Given the description of an element on the screen output the (x, y) to click on. 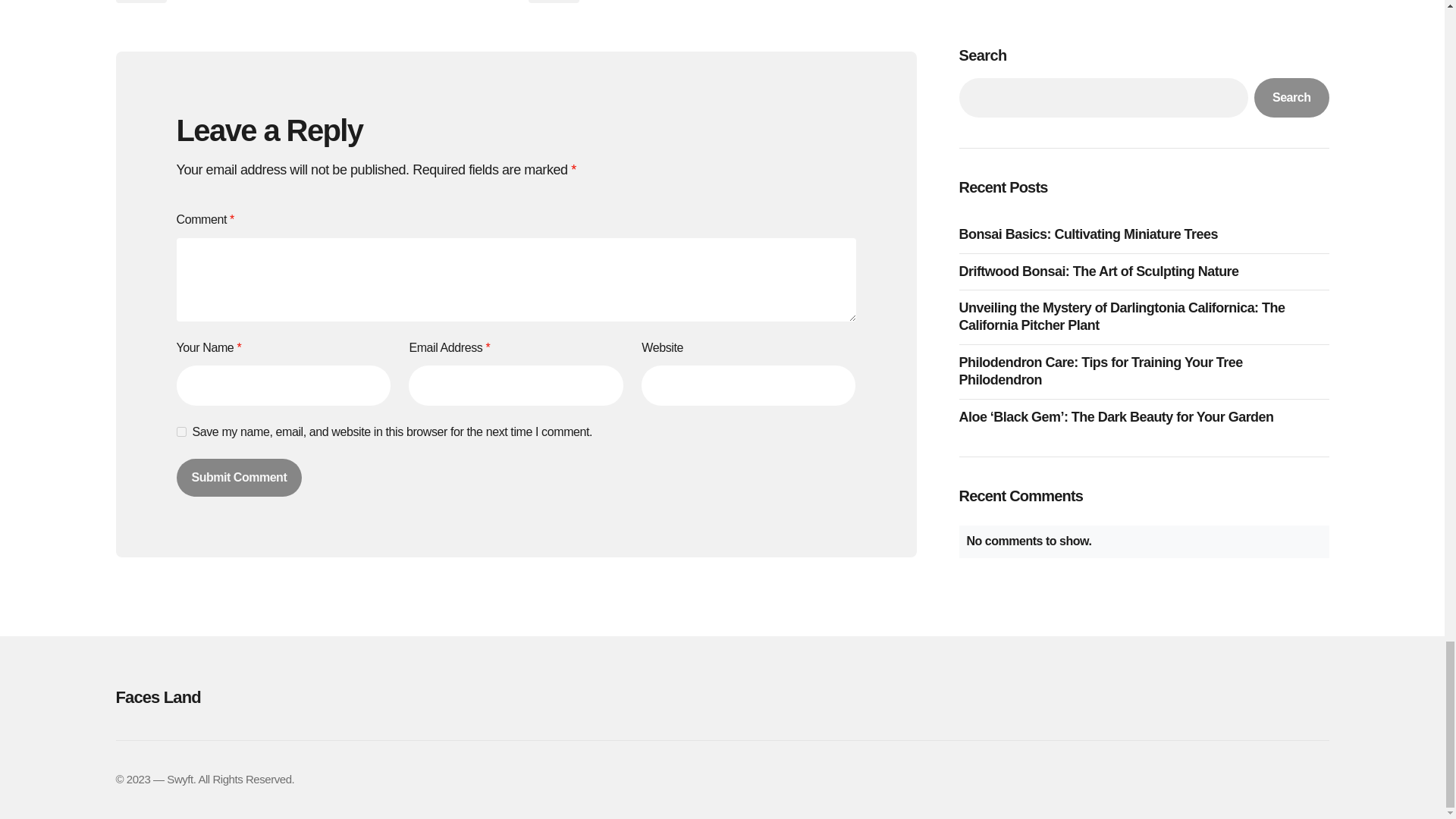
Bonsai (552, 1)
Submit Comment (238, 477)
yes (181, 431)
Faces Land (305, 697)
Bonsai (140, 1)
